Given the description of an element on the screen output the (x, y) to click on. 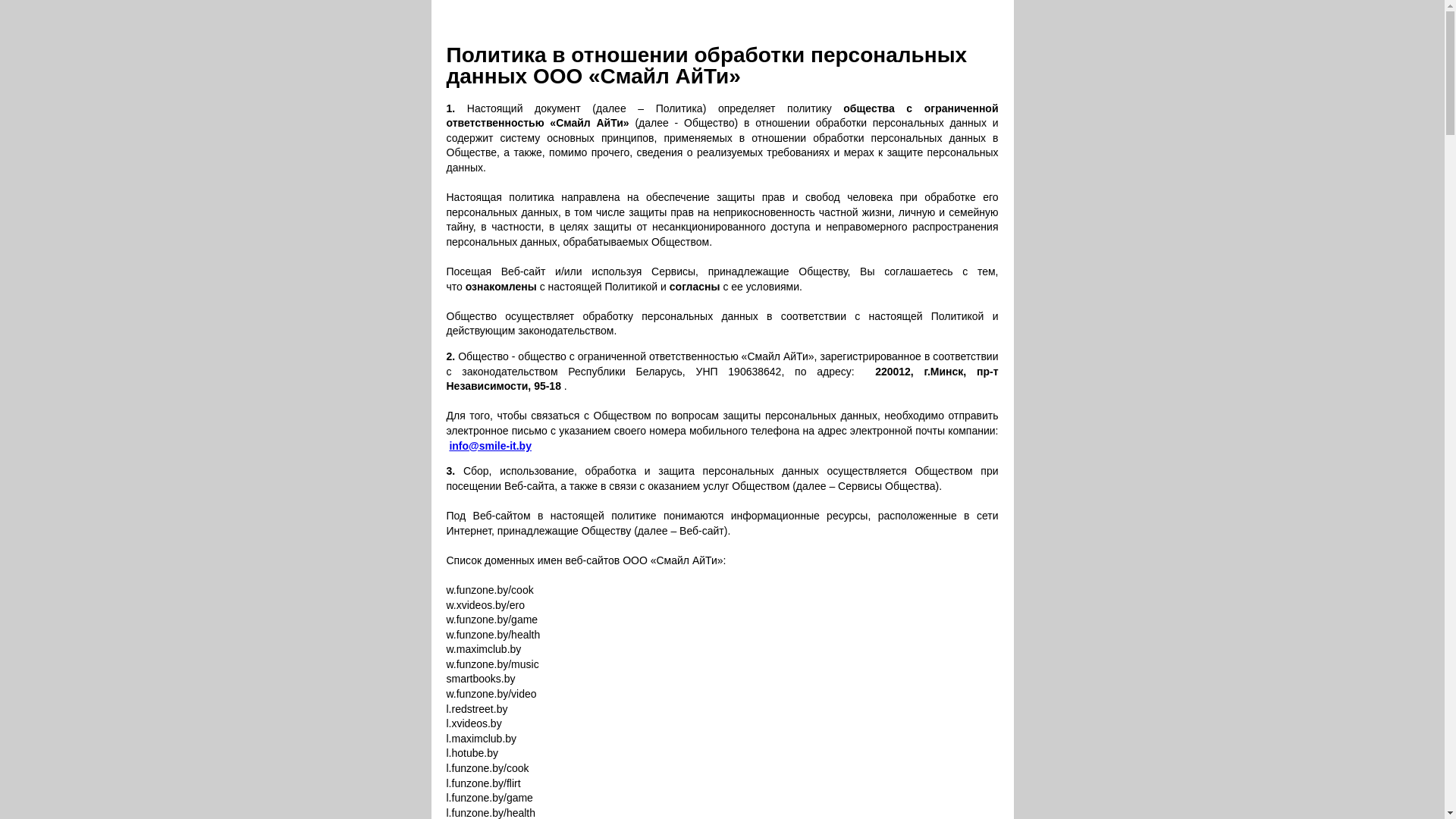
info@smile-it.by Element type: text (489, 445)
